Given the description of an element on the screen output the (x, y) to click on. 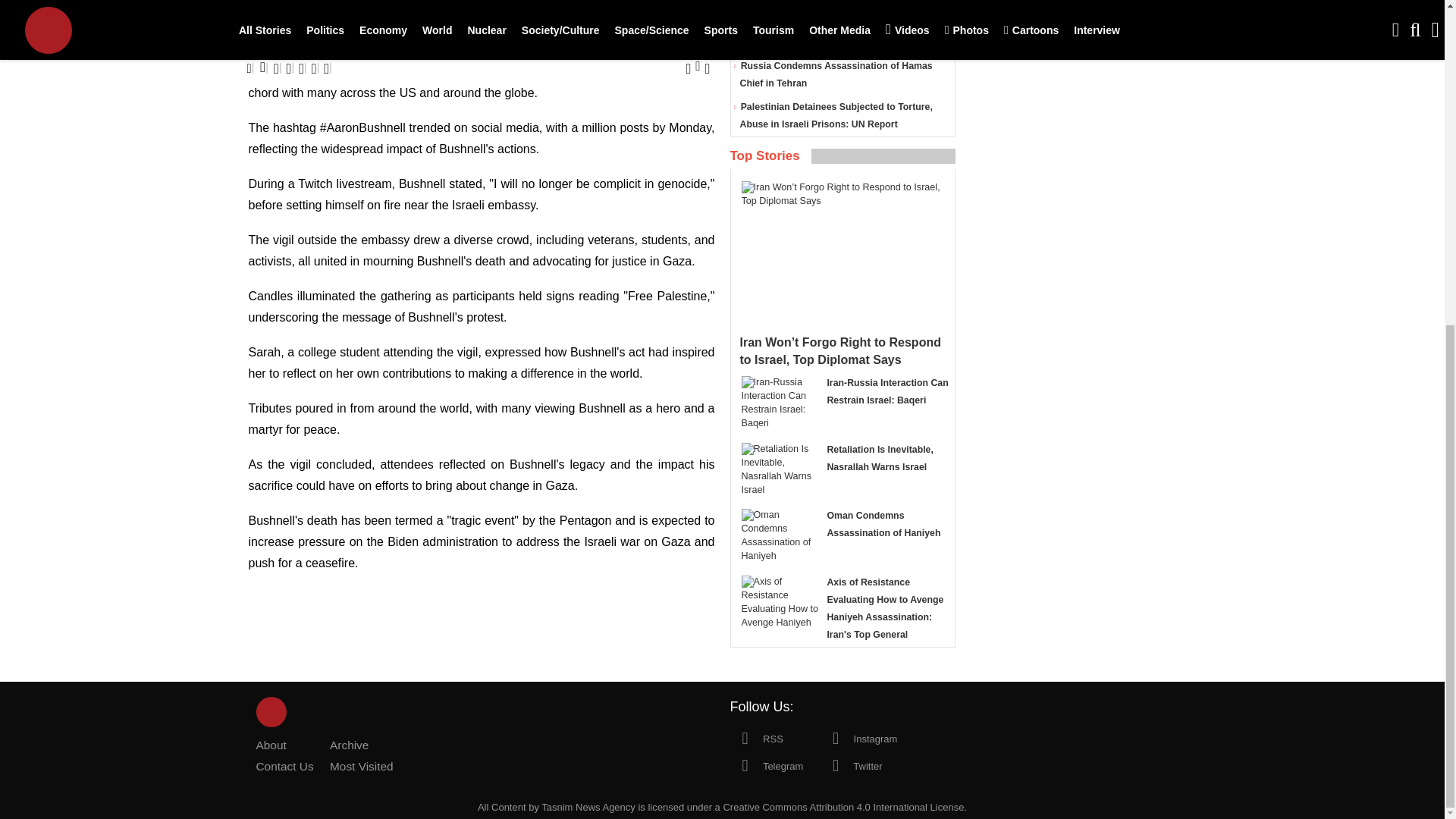
Twitter (851, 765)
Telegram (766, 765)
Instagram (858, 737)
RSS (756, 737)
